Given the description of an element on the screen output the (x, y) to click on. 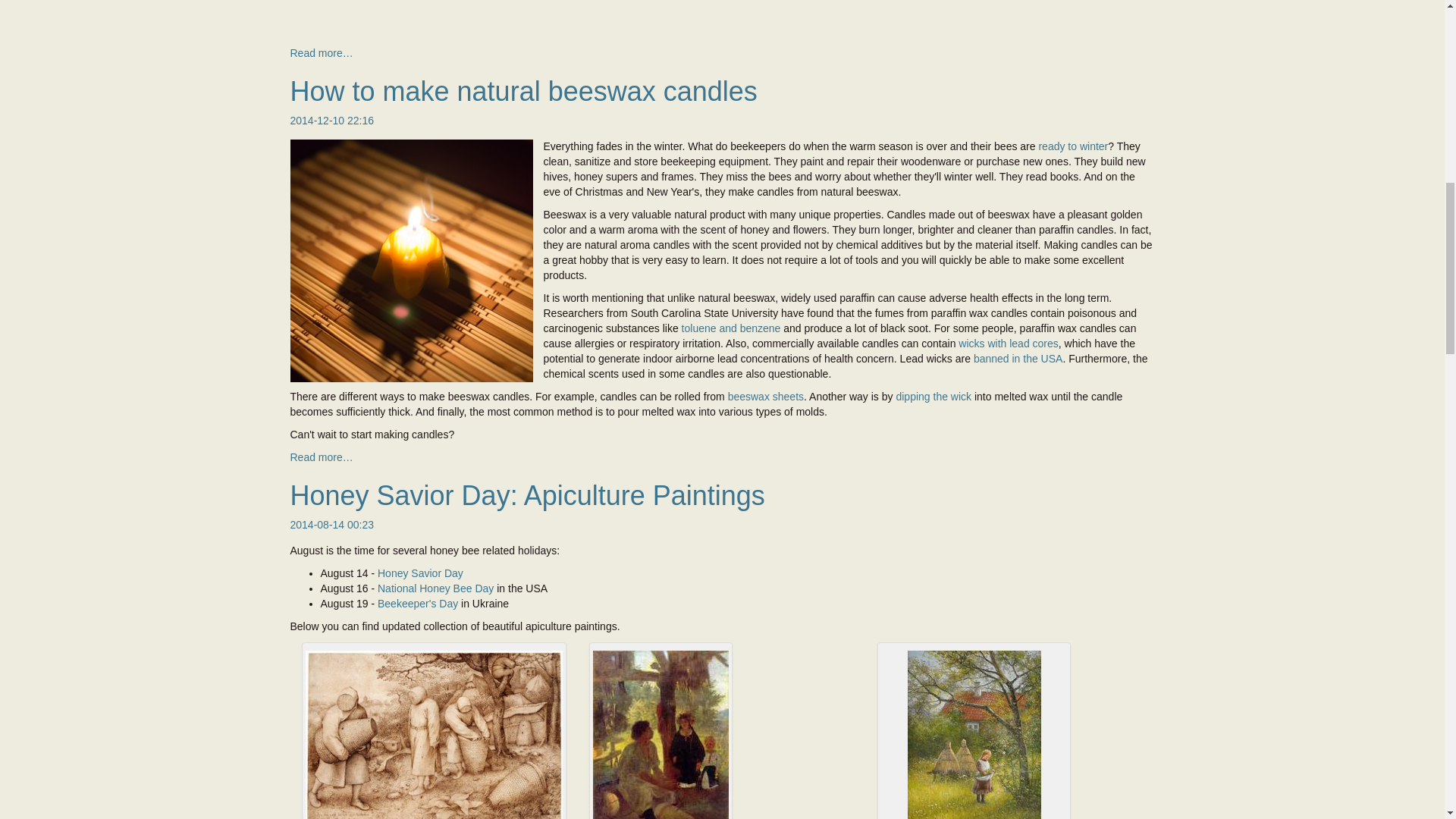
toluene and benzene (730, 328)
Honey Savior Day: Apiculture Paintings (526, 495)
2014-08-14 00:23 (331, 524)
2014-12-10 22:16 (331, 120)
wicks with lead cores (1008, 343)
beeswax sheets (765, 396)
2014-08-14 00:23 (331, 524)
The Beekeepers (433, 734)
Honey Savior Day (420, 573)
2014-12-10 22:16 (331, 120)
How to make natural beeswax candles (523, 91)
Beekeeper's Day (417, 603)
banned in the USA (1018, 358)
ready to winter (1073, 146)
National Honey Bee Day (435, 588)
